Given the description of an element on the screen output the (x, y) to click on. 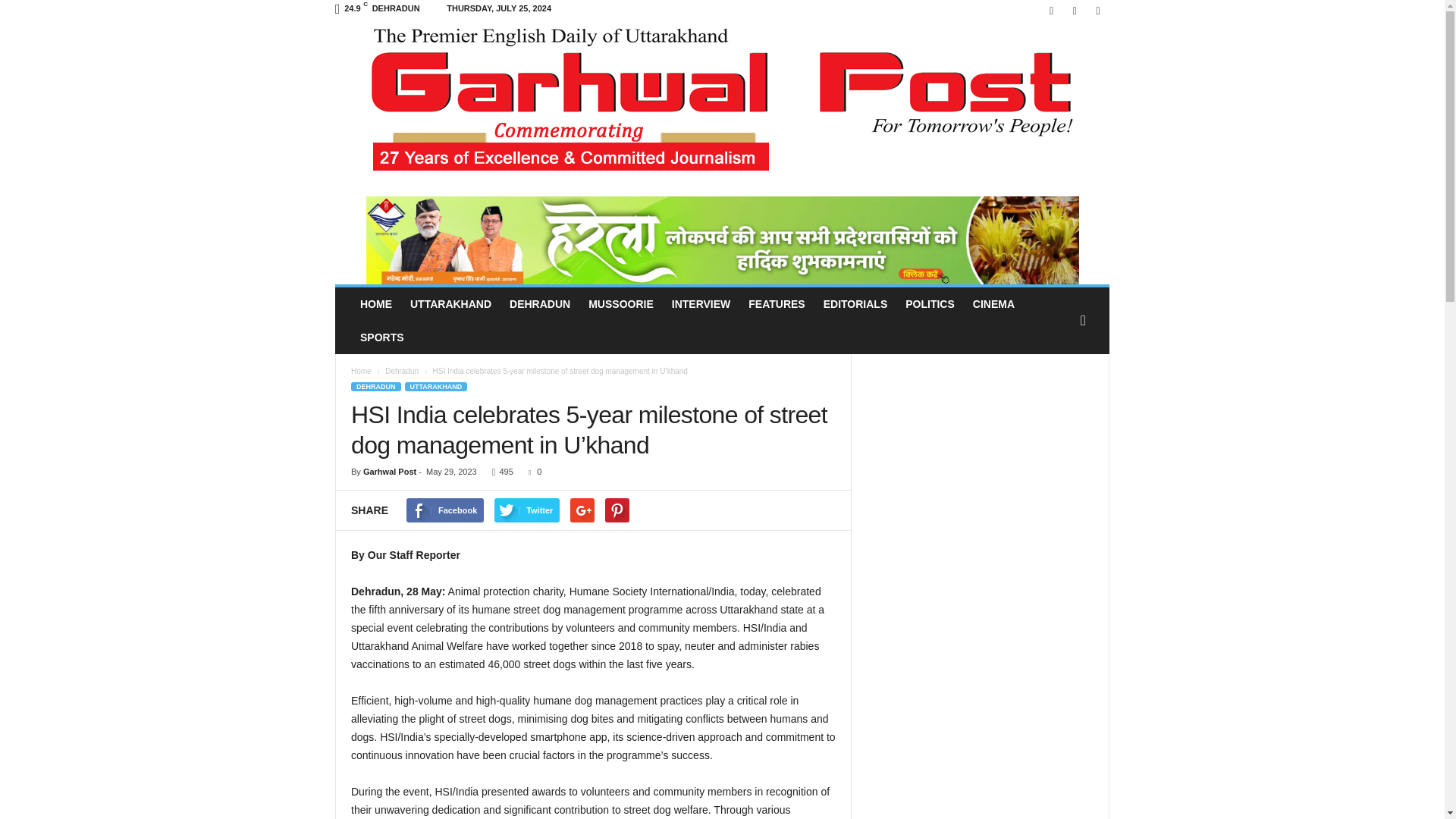
CINEMA (993, 304)
Home (361, 370)
Youtube (1097, 11)
MUSSOORIE (620, 304)
SPORTS (381, 337)
INTERVIEW (700, 304)
View all posts in Dehradun (402, 370)
POLITICS (929, 304)
FEATURES (776, 304)
Facebook (1051, 11)
EDITORIALS (854, 304)
DEHRADUN (539, 304)
UTTARAKHAND (450, 304)
Dehradun (402, 370)
